Given the description of an element on the screen output the (x, y) to click on. 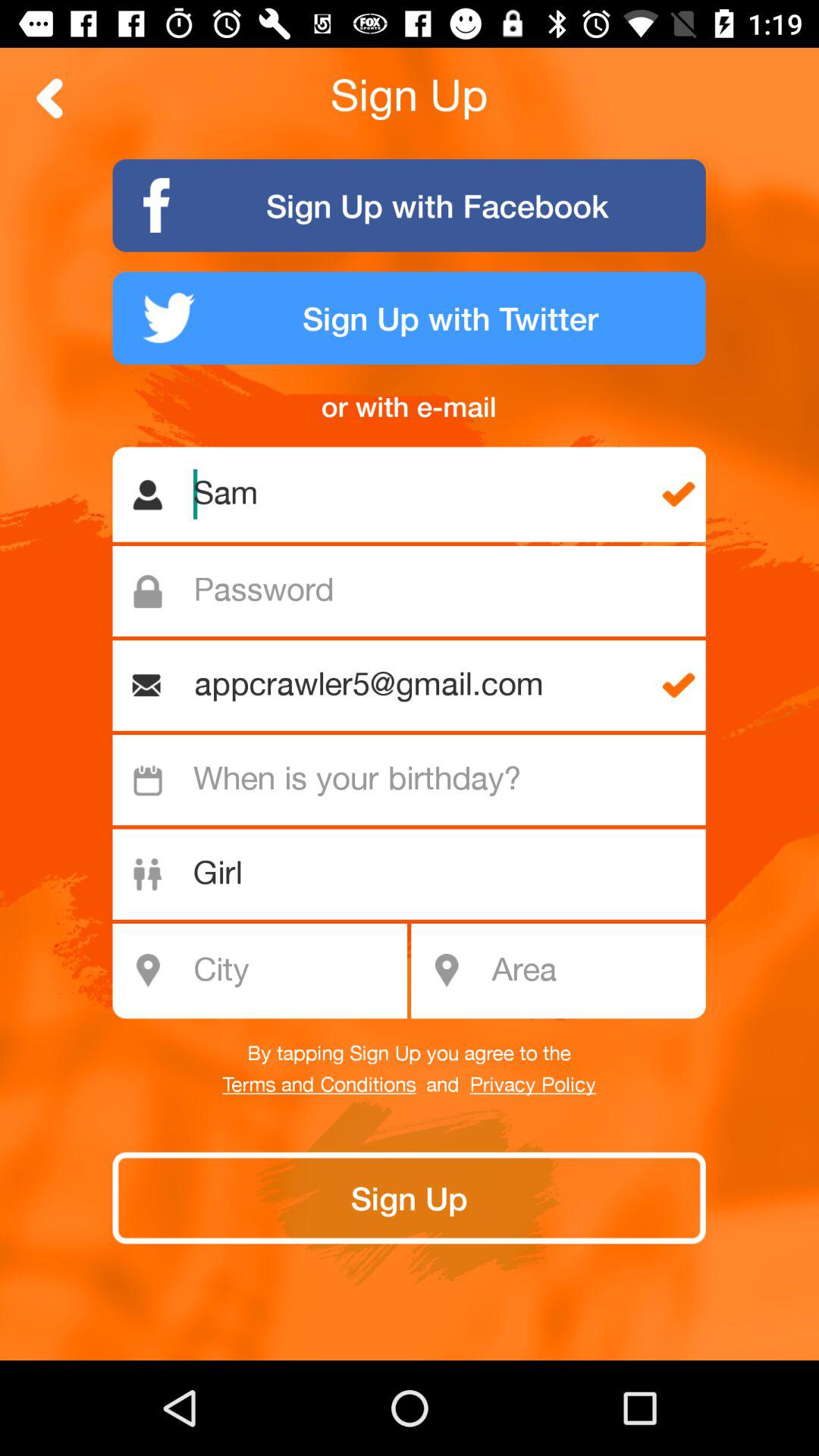
password field (417, 591)
